Given the description of an element on the screen output the (x, y) to click on. 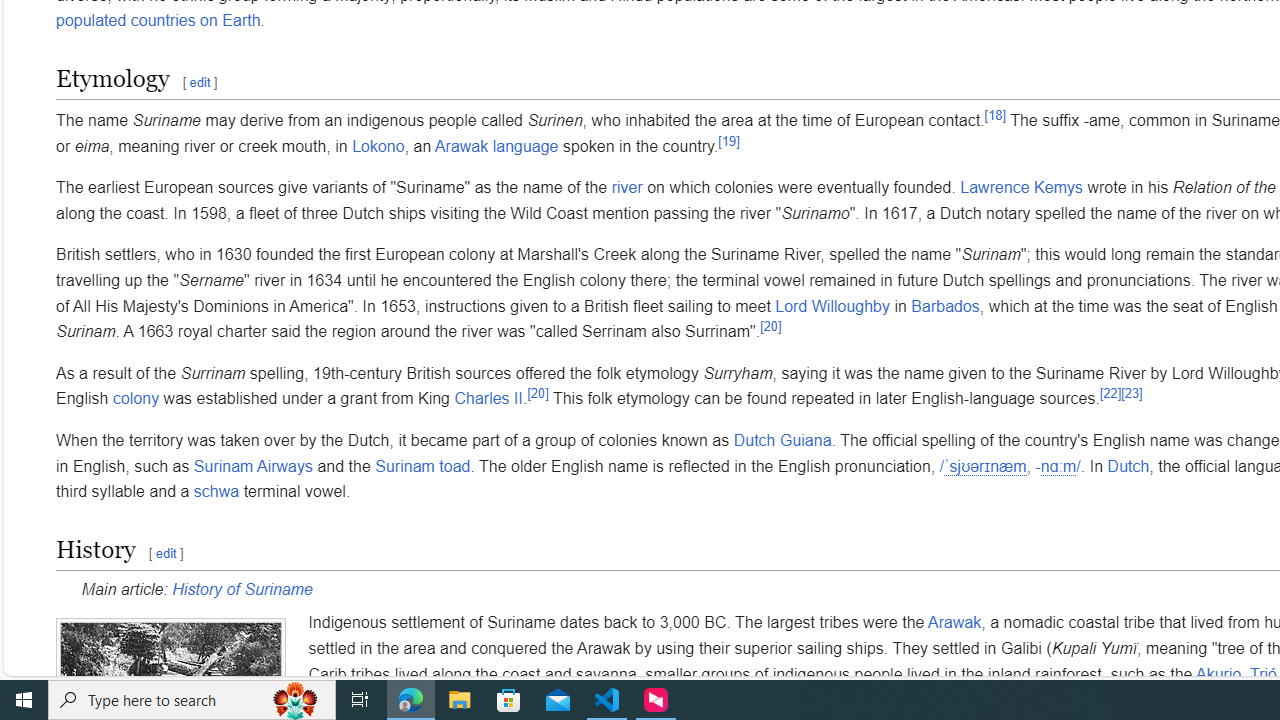
[20] (538, 393)
colony (136, 399)
river (626, 188)
[22] (1110, 393)
[23] (1132, 393)
edit (165, 552)
Lokono (378, 145)
Arawak language (496, 145)
Barbados (945, 305)
Surinam Airways (253, 466)
Dutch Guiana (782, 440)
Akurio (1218, 674)
Surinam toad (423, 466)
[19] (728, 141)
Lawrence Kemys (1022, 188)
